Given the description of an element on the screen output the (x, y) to click on. 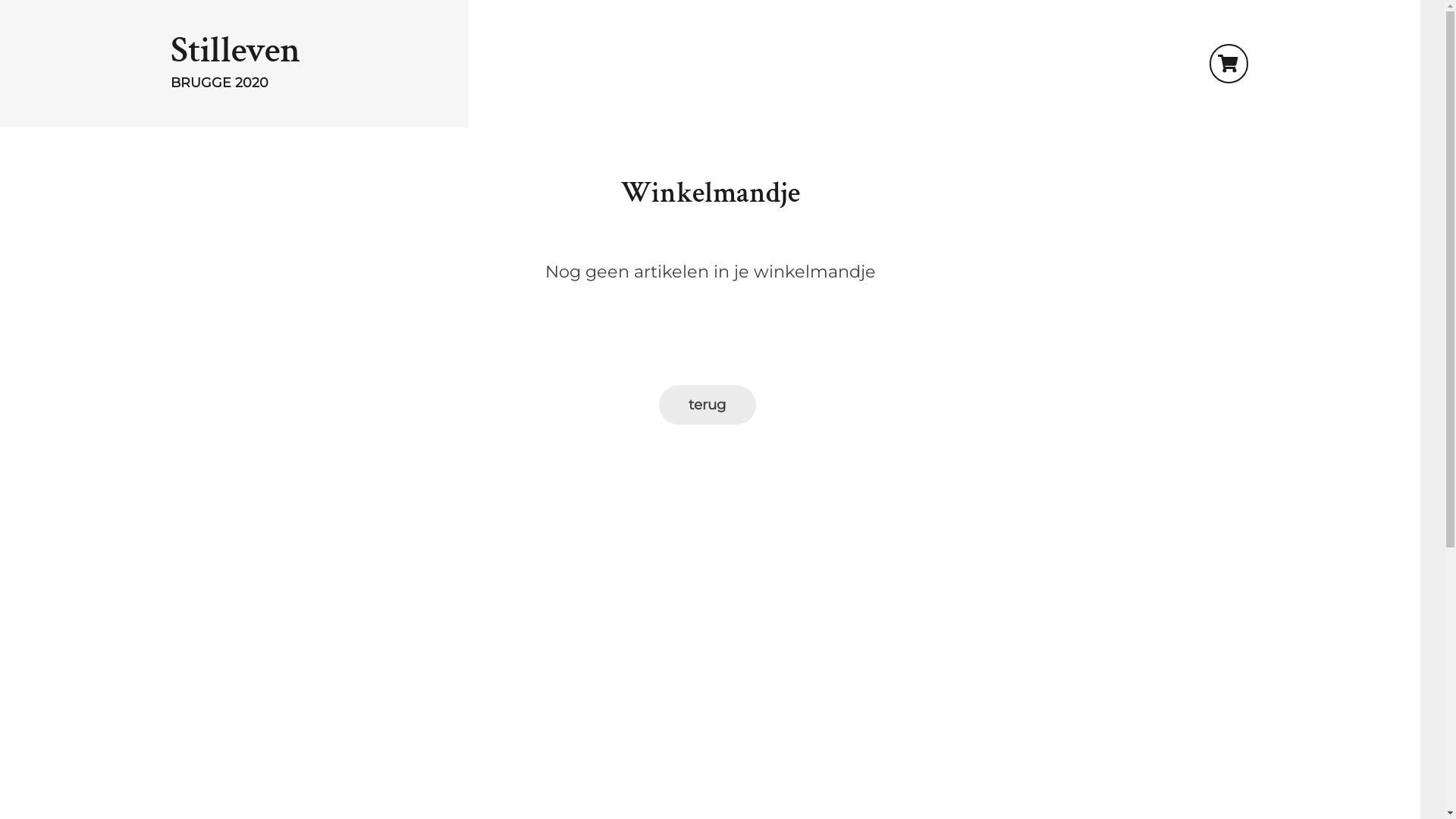
Stilleven
BRUGGE 2020 Element type: text (688, 62)
terug Element type: text (706, 404)
